Given the description of an element on the screen output the (x, y) to click on. 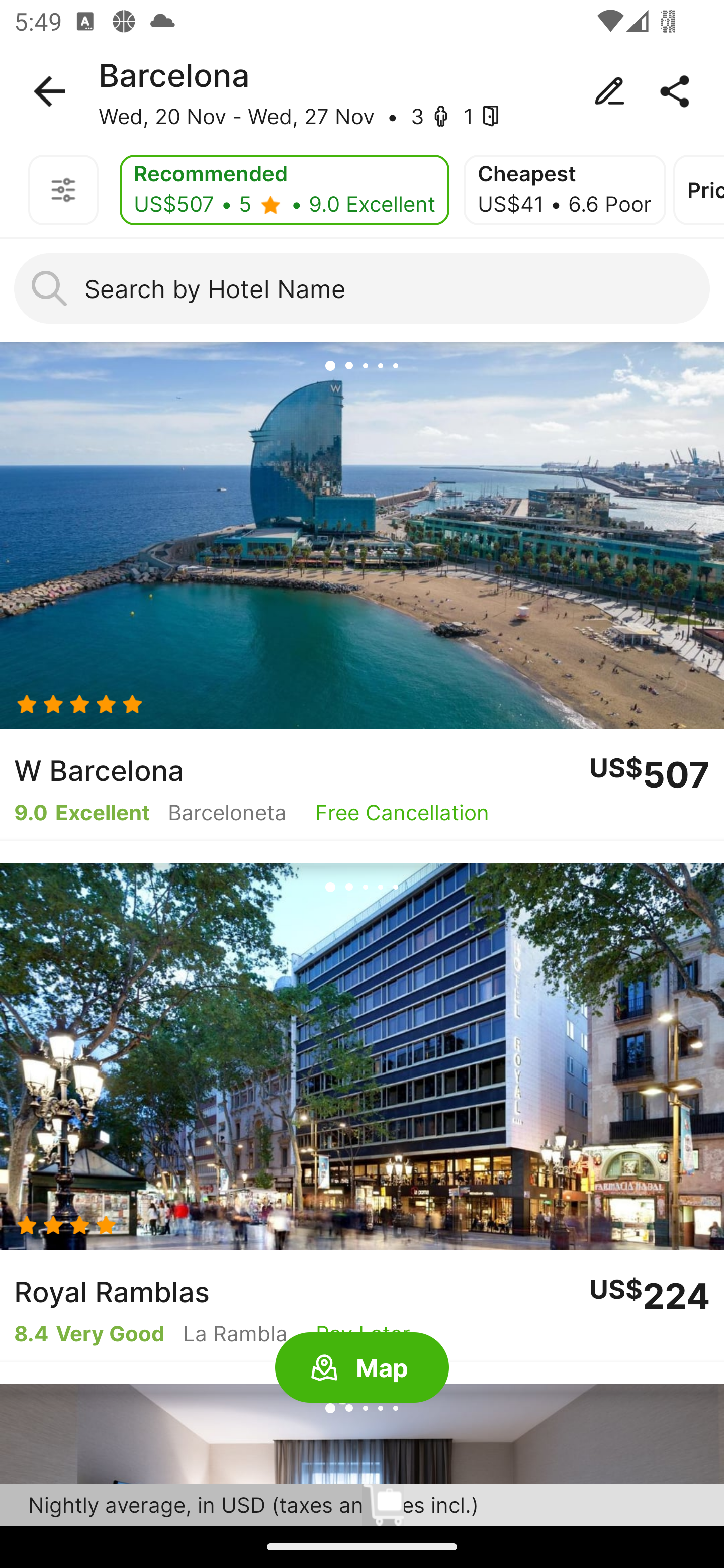
Barcelona Wed, 20 Nov - Wed, 27 Nov  •  3 -  1 - (361, 91)
Recommended  US$507  • 5 - • 9.0 Excellent (284, 190)
Cheapest US$41  • 6.6 Poor (564, 190)
Search by Hotel Name  (361, 288)
Map  (361, 1367)
